Given the description of an element on the screen output the (x, y) to click on. 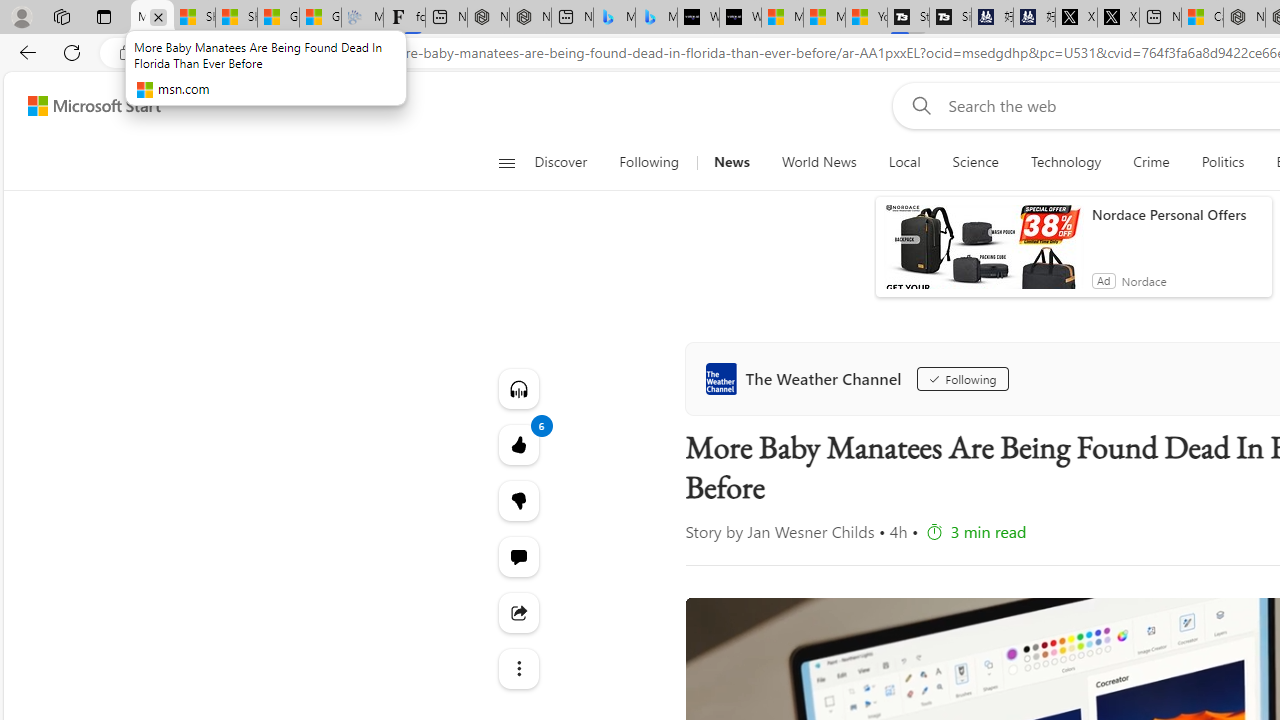
Listen to this article (517, 388)
Personal Profile (21, 16)
What's the best AI voice generator? - voice.ai (740, 17)
The Weather Channel (807, 378)
Skip to footer (82, 105)
Microsoft Bing Travel - Shangri-La Hotel Bangkok (656, 17)
Workspaces (61, 16)
More like this6Fewer like thisStart the conversation (517, 500)
